Given the description of an element on the screen output the (x, y) to click on. 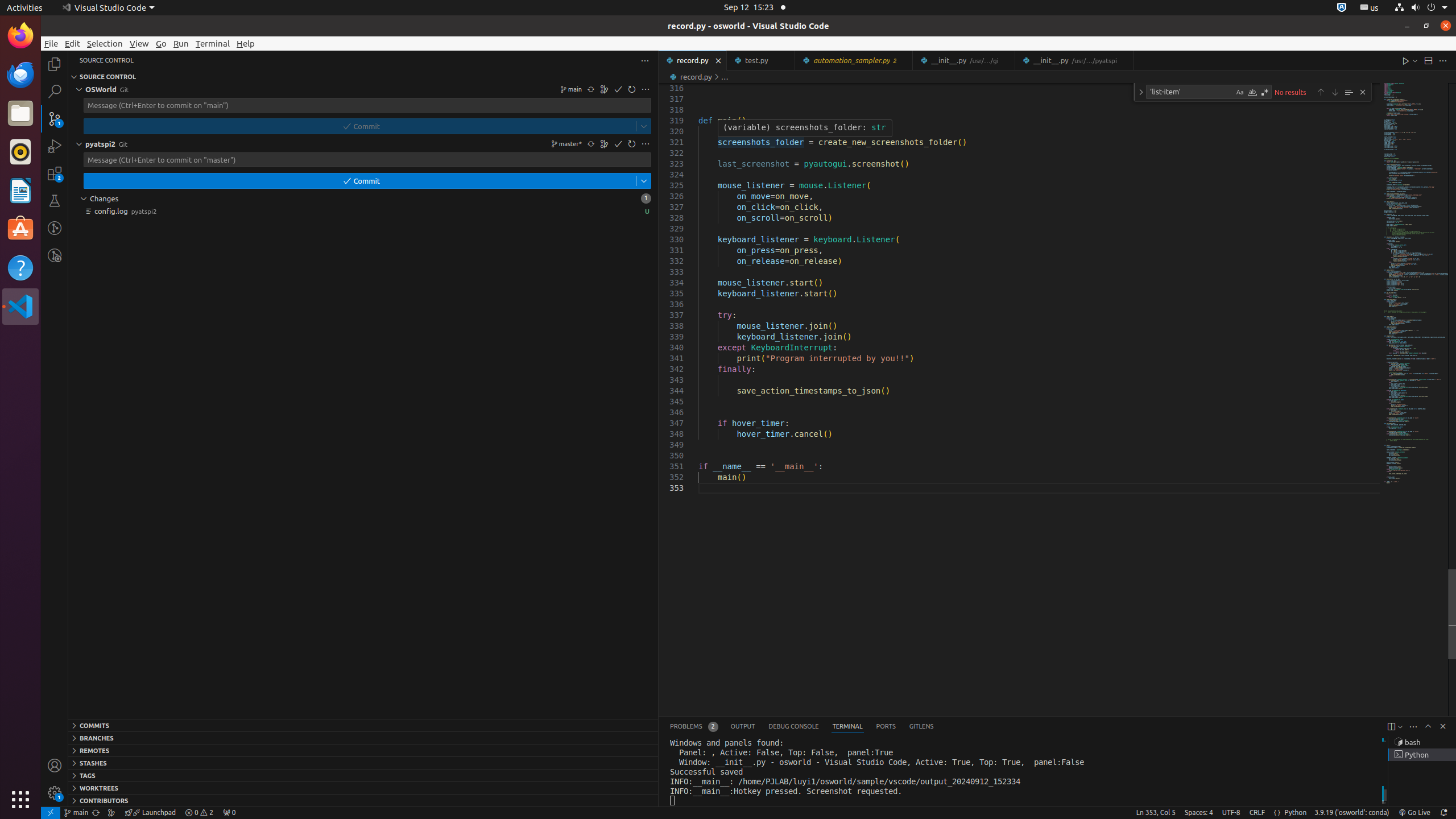
3.9.19 ('osworld': conda), ~/anaconda3/envs/osworld/bin/python Element type: push-button (1351, 812)
 Element type: push-button (644, 180)
Previous Match (Shift+Enter) Element type: push-button (1320, 91)
OSWorld (Git) - Synchronize Changes Element type: push-button (95, 812)
remote Element type: push-button (50, 812)
